Given the description of an element on the screen output the (x, y) to click on. 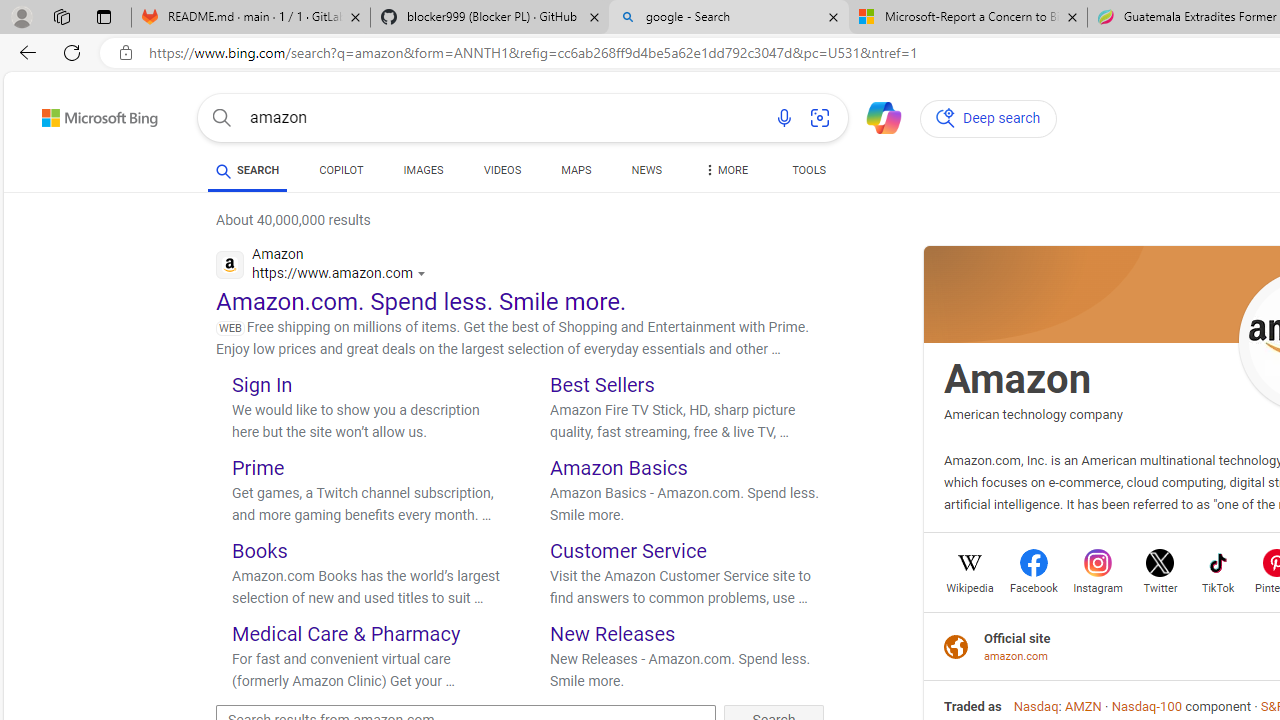
MORE (724, 173)
MAPS (576, 170)
TOOLS (808, 170)
VIDEOS (501, 170)
amazon.com (1017, 655)
Best Sellers (602, 384)
google - Search (729, 17)
Traded as (973, 706)
Amazon (1017, 378)
MAPS (576, 173)
